Given the description of an element on the screen output the (x, y) to click on. 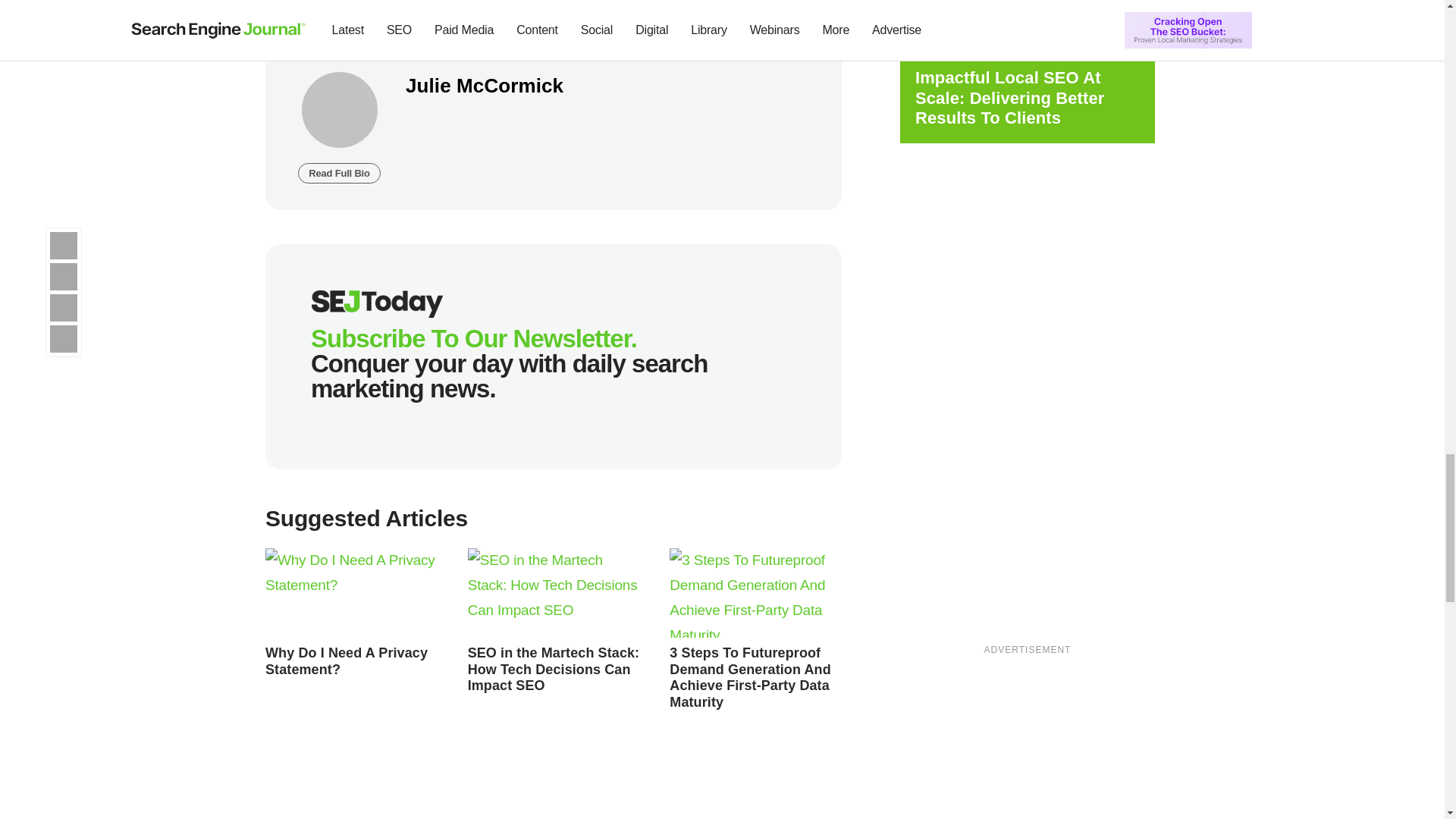
Read the Article (749, 677)
Read the Article (553, 668)
Read the Article (351, 592)
Read the Article (346, 661)
Read the Article (755, 592)
Read the Article (553, 592)
